Given the description of an element on the screen output the (x, y) to click on. 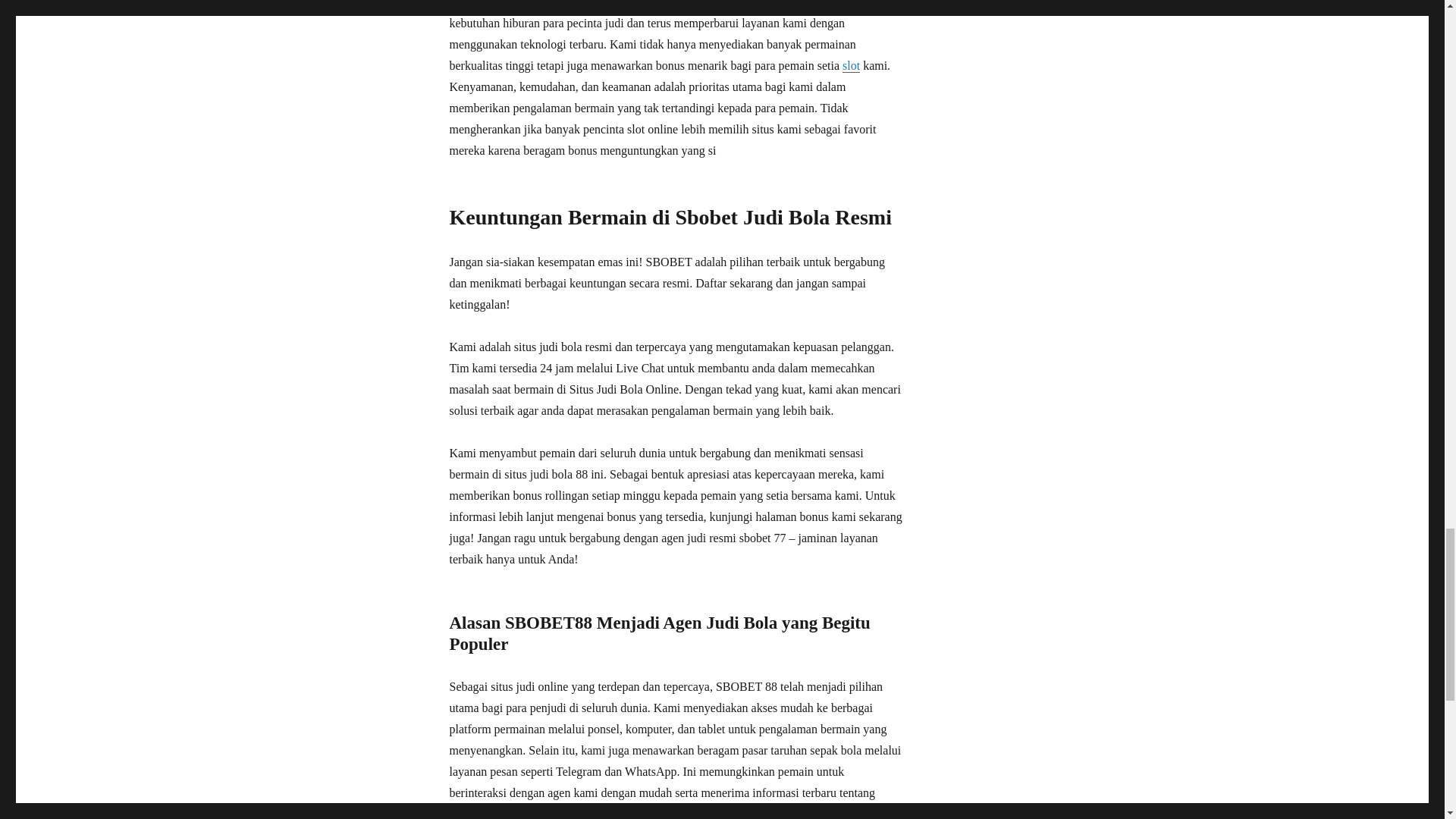
slot (851, 65)
